Given the description of an element on the screen output the (x, y) to click on. 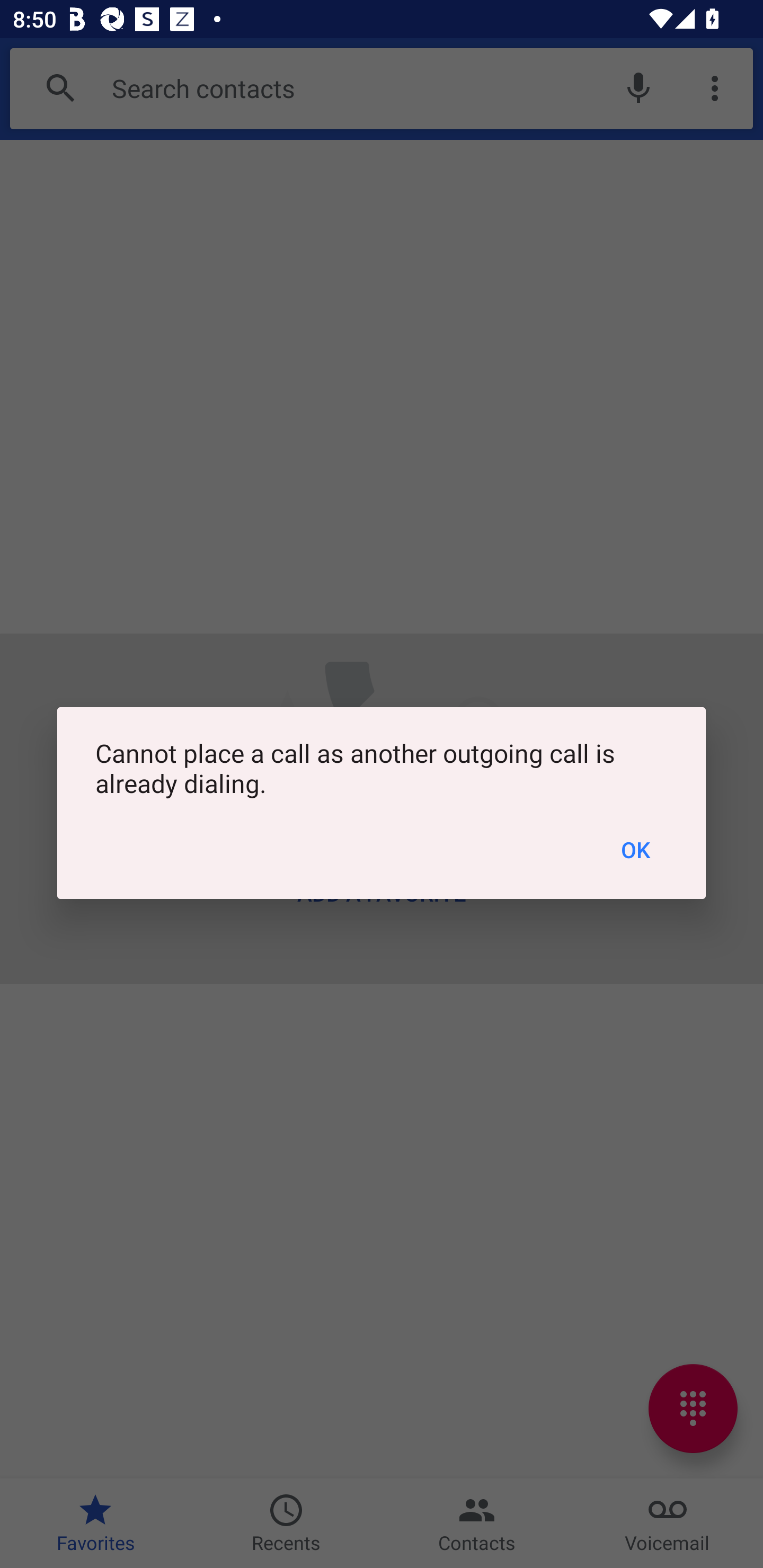
OK (635, 849)
